Given the description of an element on the screen output the (x, y) to click on. 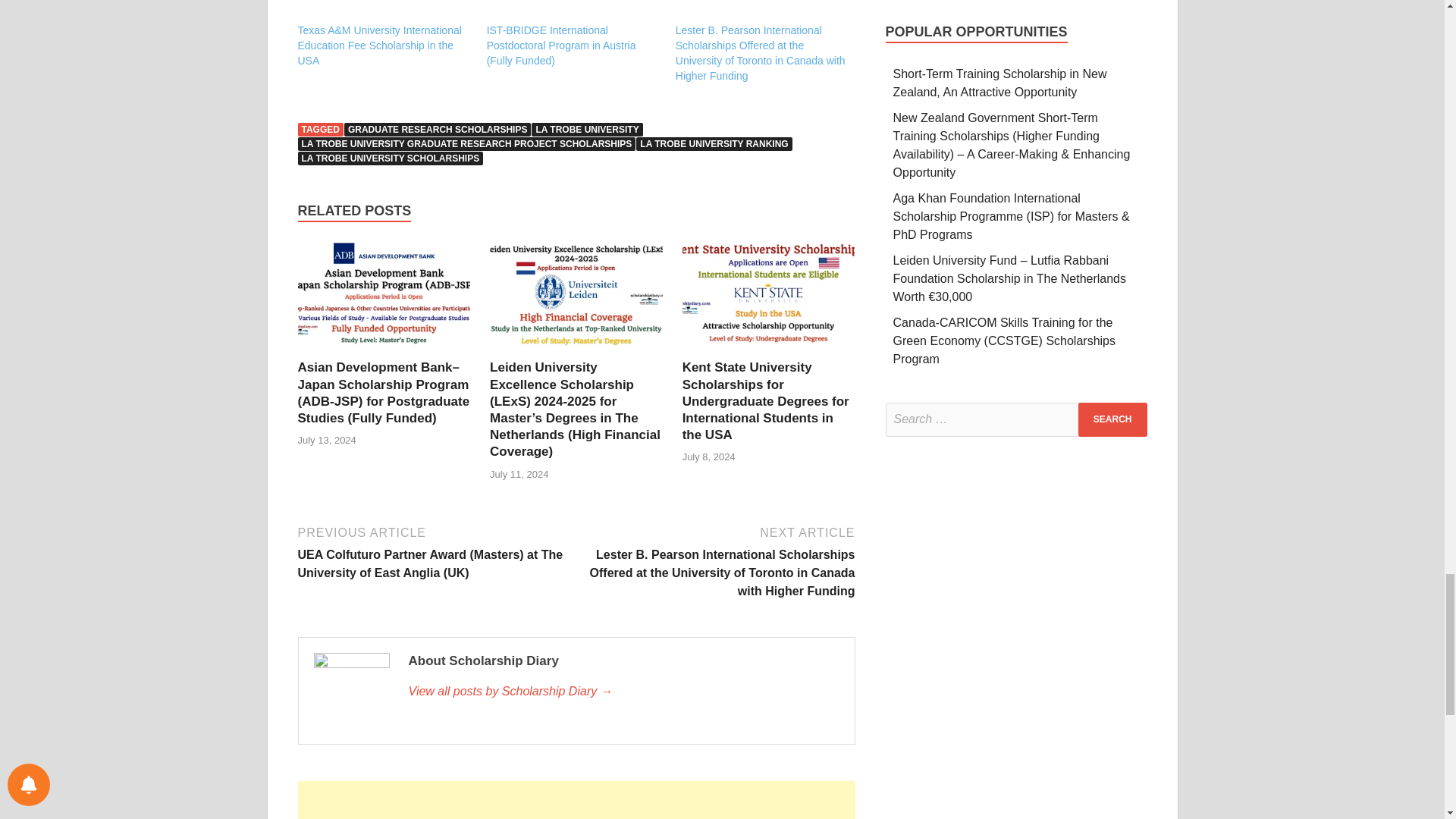
Search (1112, 419)
Search (1112, 419)
